Given the description of an element on the screen output the (x, y) to click on. 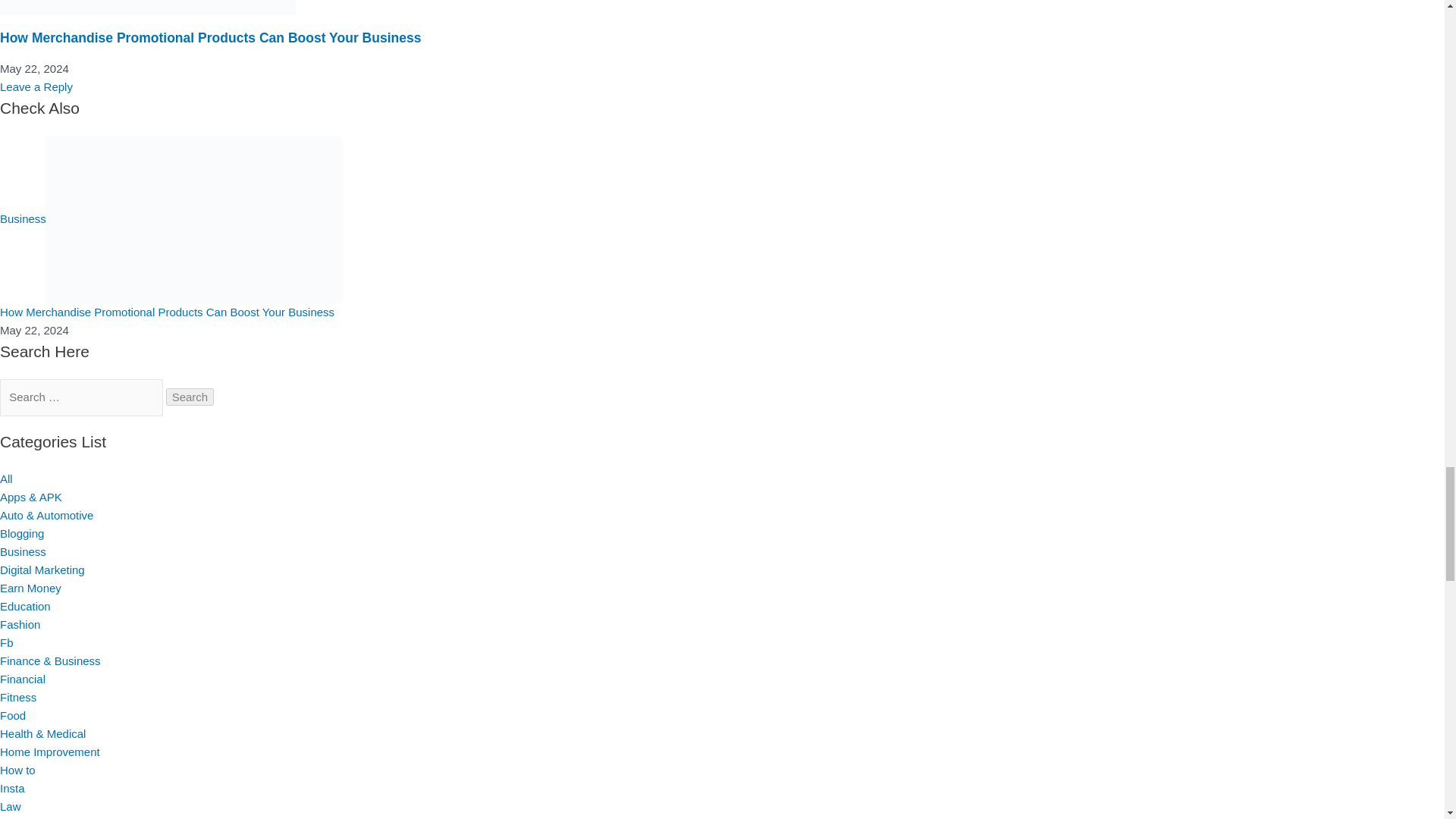
Search (189, 396)
Search (189, 396)
